Given the description of an element on the screen output the (x, y) to click on. 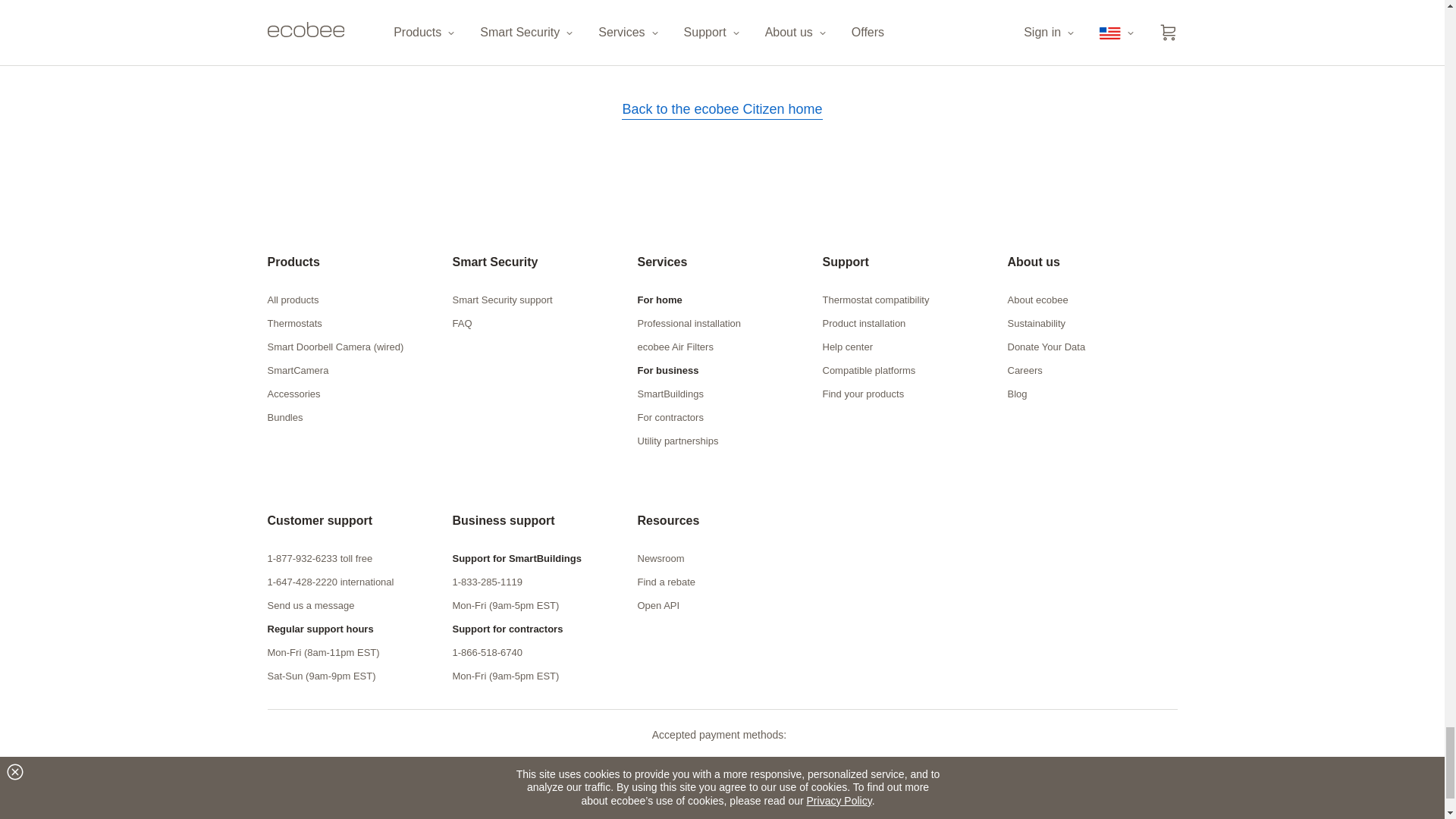
YouTube (1164, 812)
Instagram (1099, 812)
Twitter (1065, 812)
LinkedIn (1134, 812)
Facebook (1035, 812)
